Given the description of an element on the screen output the (x, y) to click on. 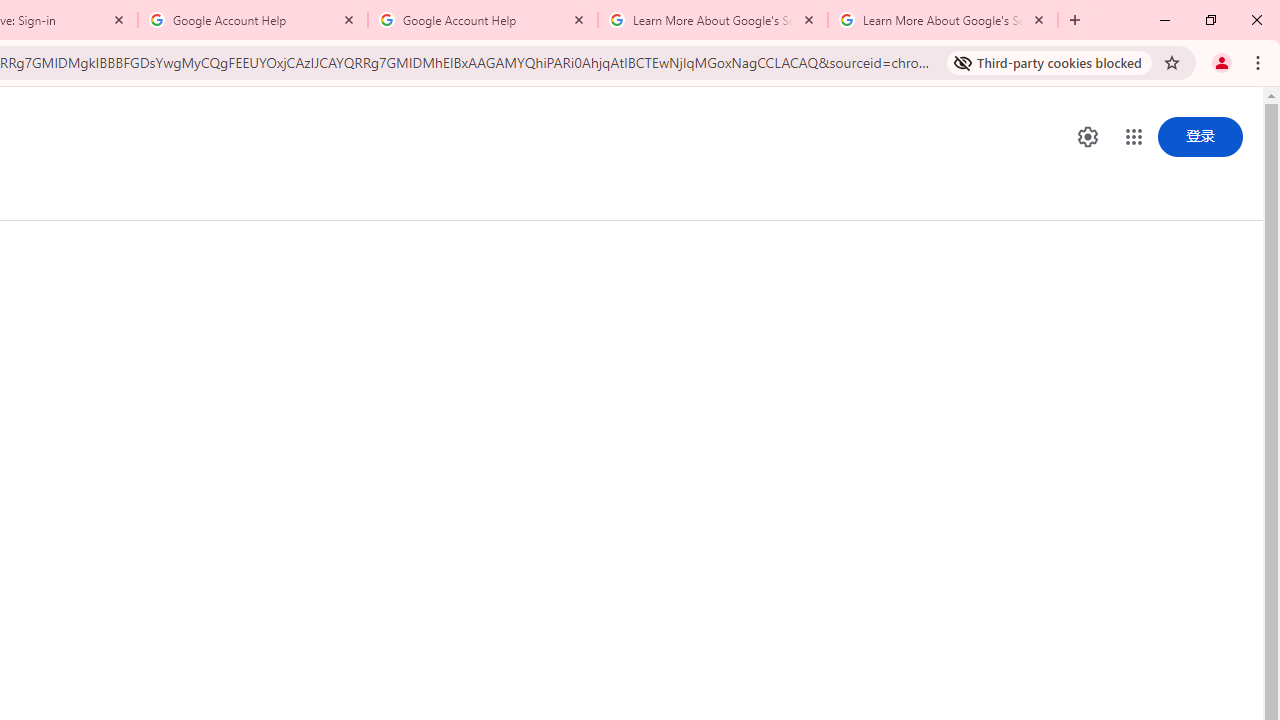
Google Account Help (482, 20)
